Given the description of an element on the screen output the (x, y) to click on. 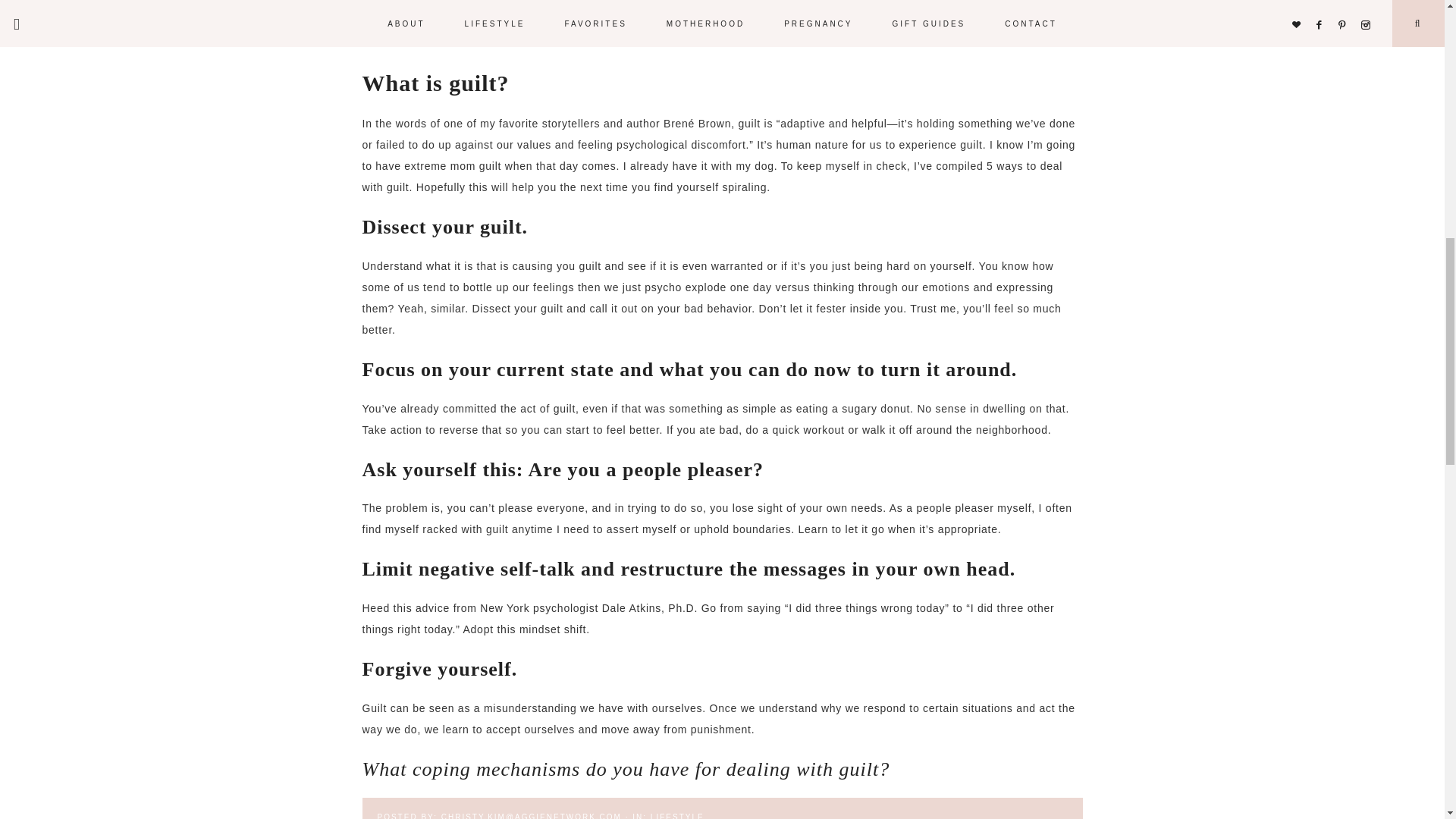
LIFESTYLE (677, 816)
